Given the description of an element on the screen output the (x, y) to click on. 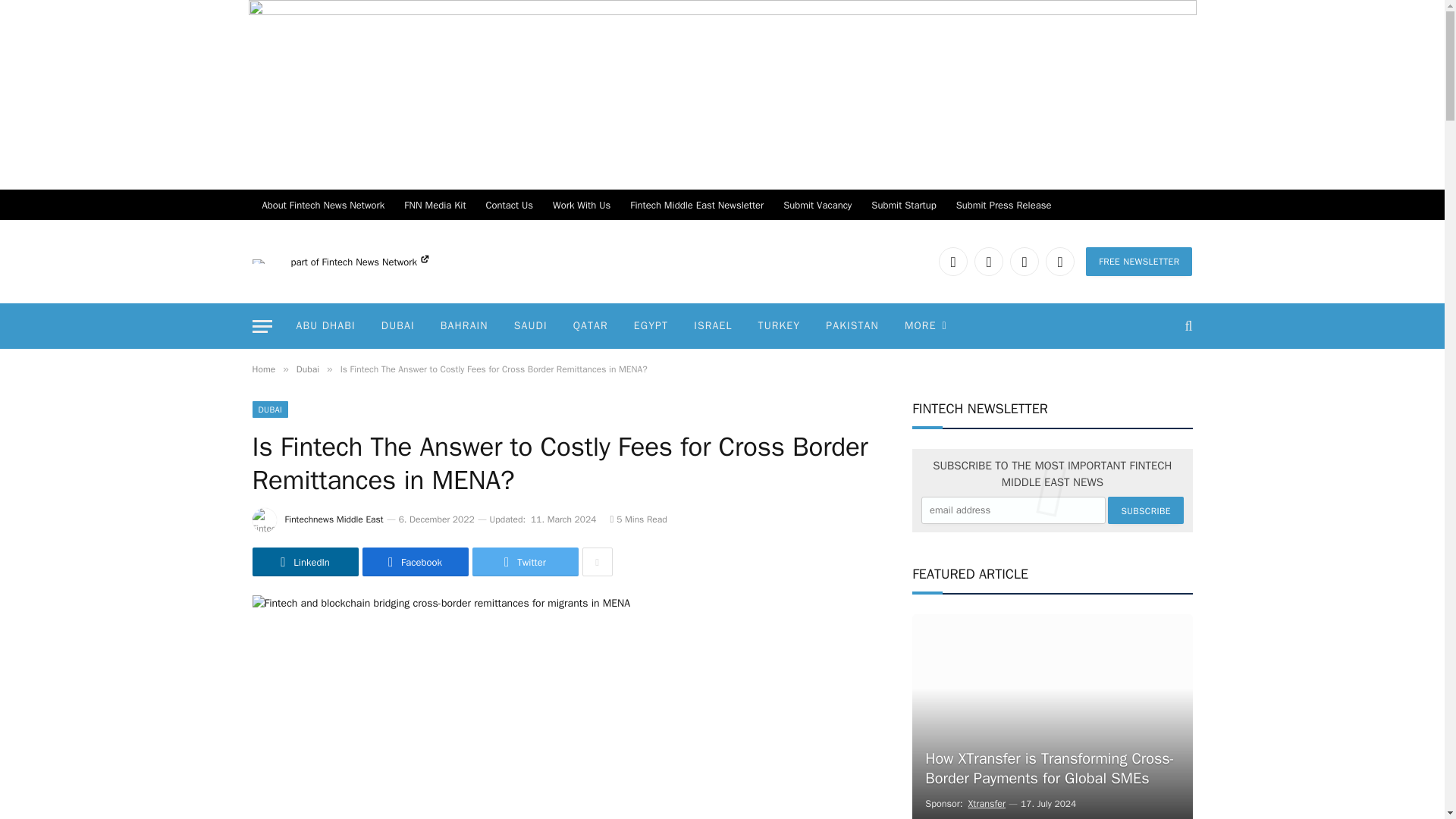
About Fintech News Network (322, 204)
Work With Us (581, 204)
Show More Social Sharing (597, 561)
Submit Startup (902, 204)
Subscribe (1145, 510)
Posts by Fintechnews Middle East (334, 519)
Search (1186, 326)
QATAR (590, 325)
Share on LinkedIn (304, 561)
Fintech Middle East Newsletter (696, 204)
Fintech News Network (375, 261)
LinkedIn (953, 261)
RSS (1059, 261)
ABU DHABI (325, 325)
